Given the description of an element on the screen output the (x, y) to click on. 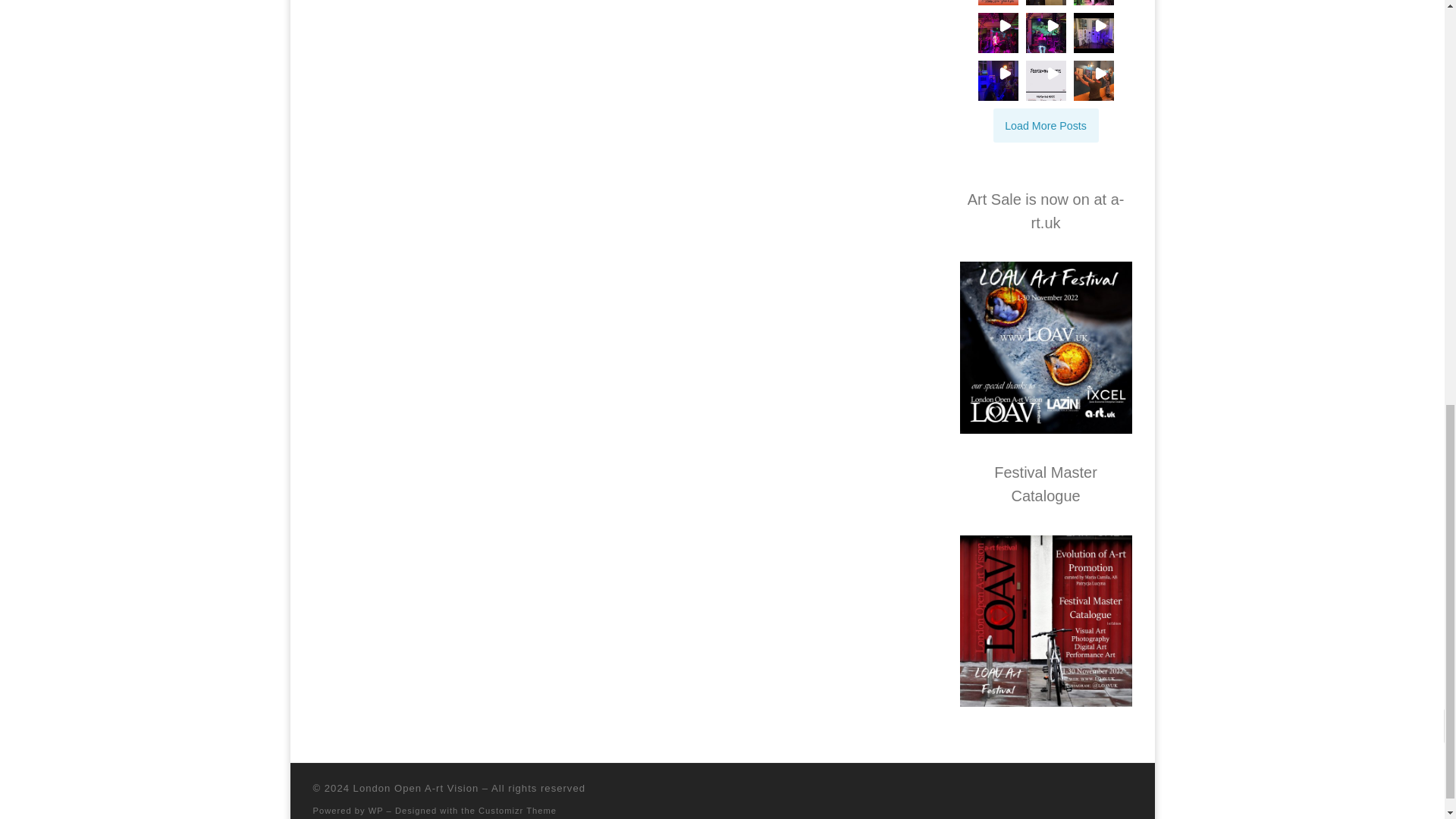
Powered by WordPress (376, 809)
London Open A-rt Vision (416, 787)
Customizr Theme (517, 809)
